Given the description of an element on the screen output the (x, y) to click on. 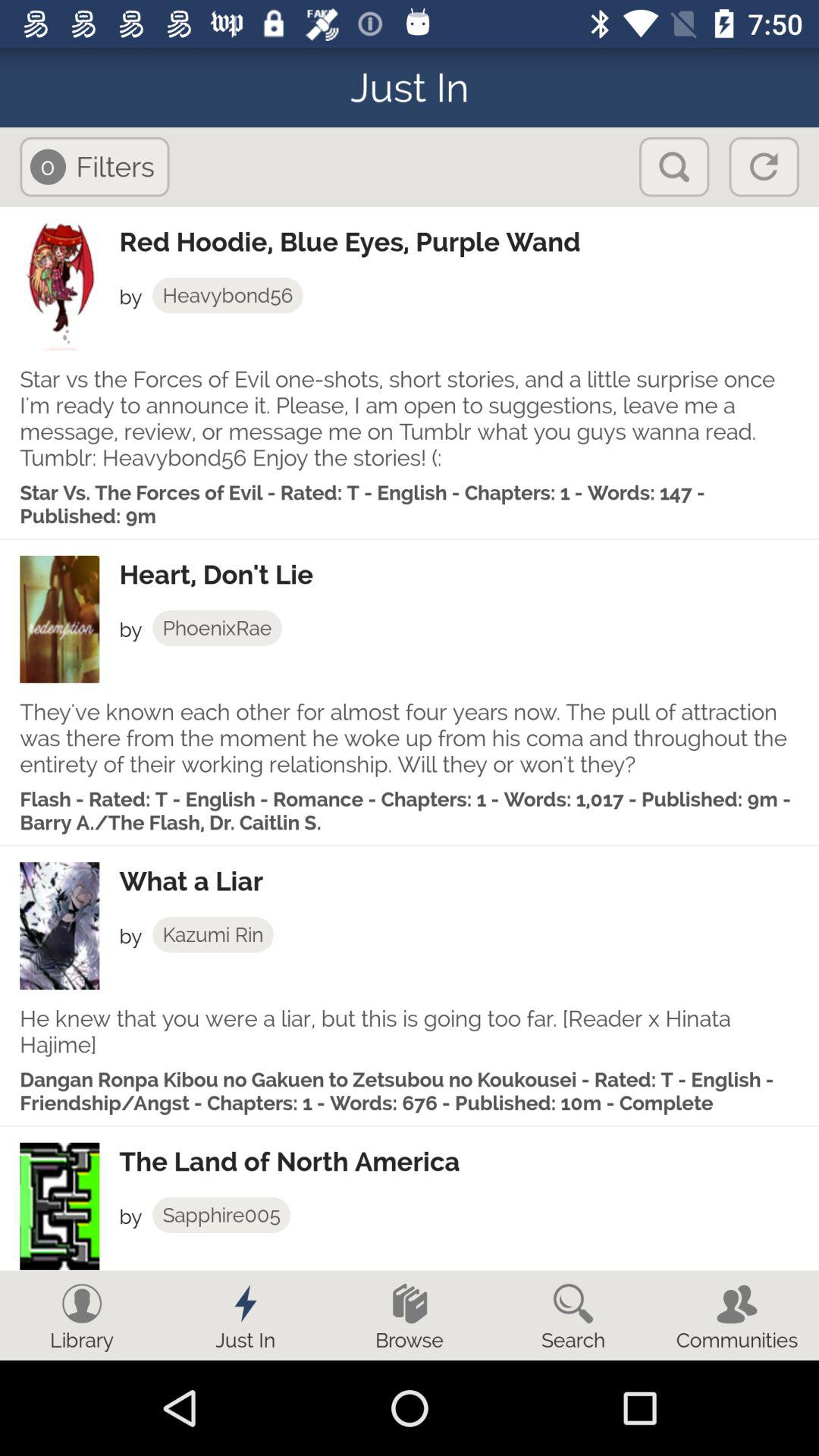
open they ve known item (409, 737)
